Given the description of an element on the screen output the (x, y) to click on. 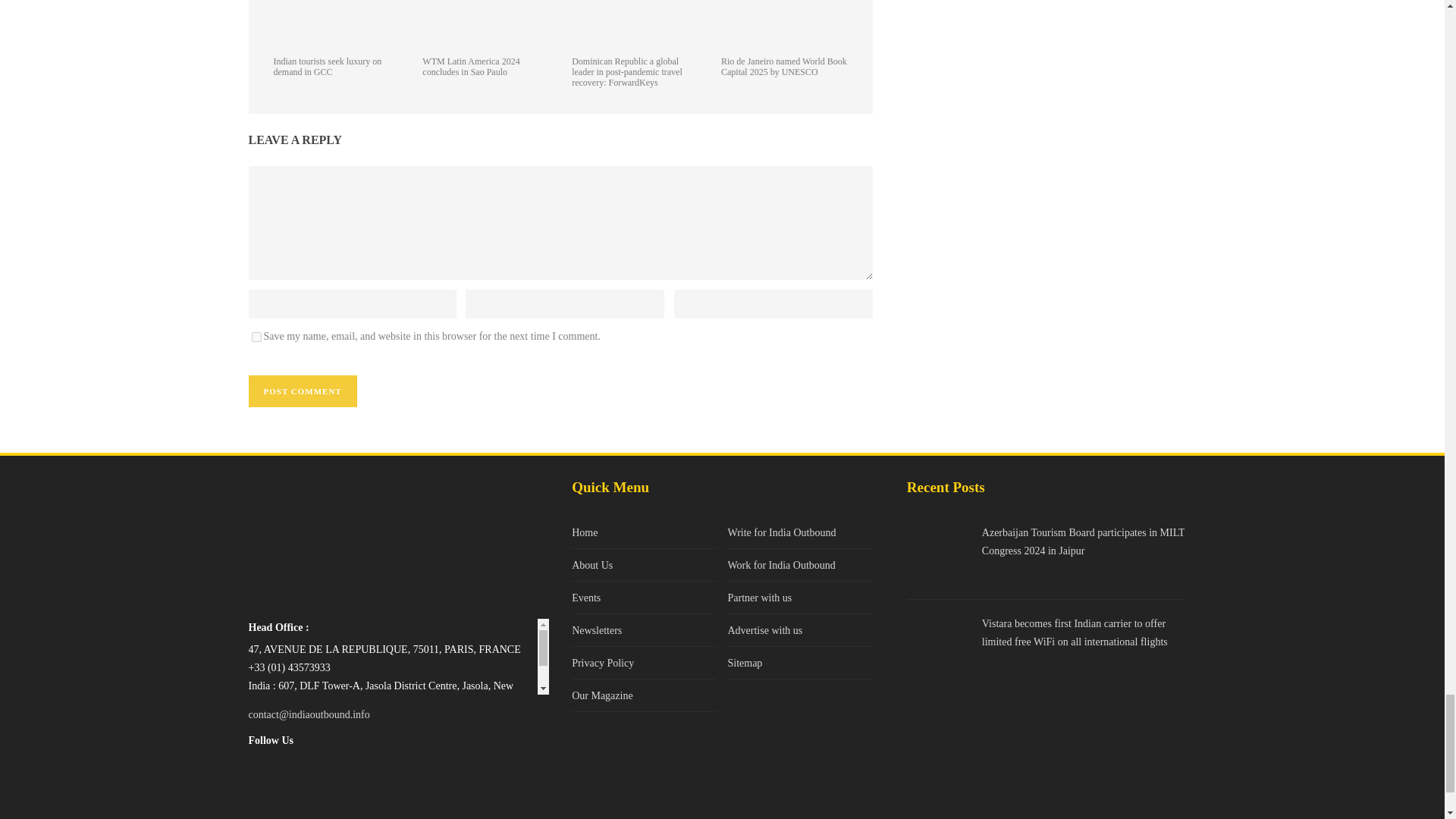
yes (256, 337)
Post Comment (302, 391)
